Given the description of an element on the screen output the (x, y) to click on. 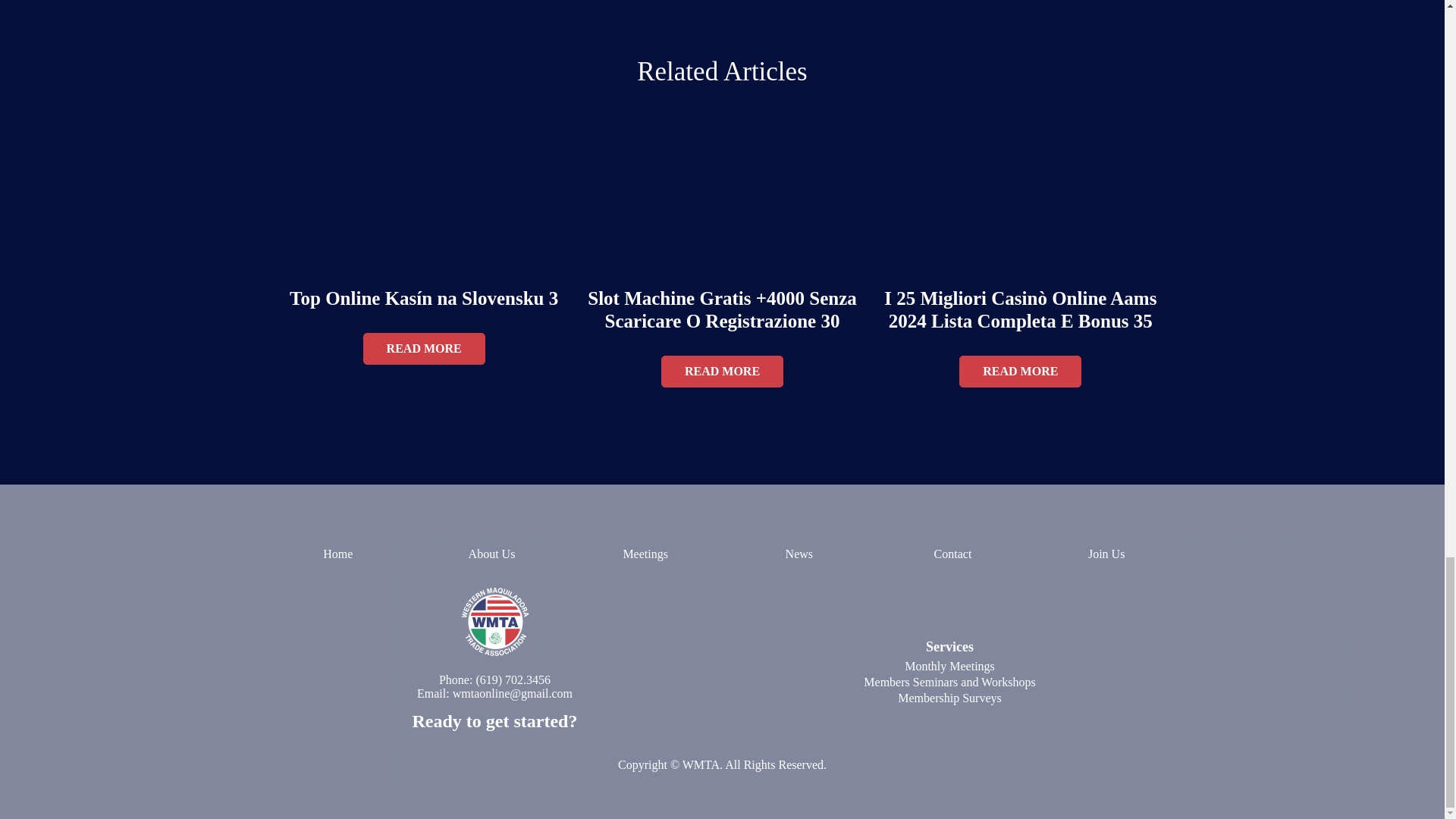
News (798, 553)
READ MORE (722, 371)
READ MORE (423, 348)
Meetings (645, 553)
Contact (952, 553)
About Us (491, 553)
Membership Surveys (949, 698)
READ MORE (1020, 371)
Home (337, 553)
Monthly Meetings (949, 666)
